Given the description of an element on the screen output the (x, y) to click on. 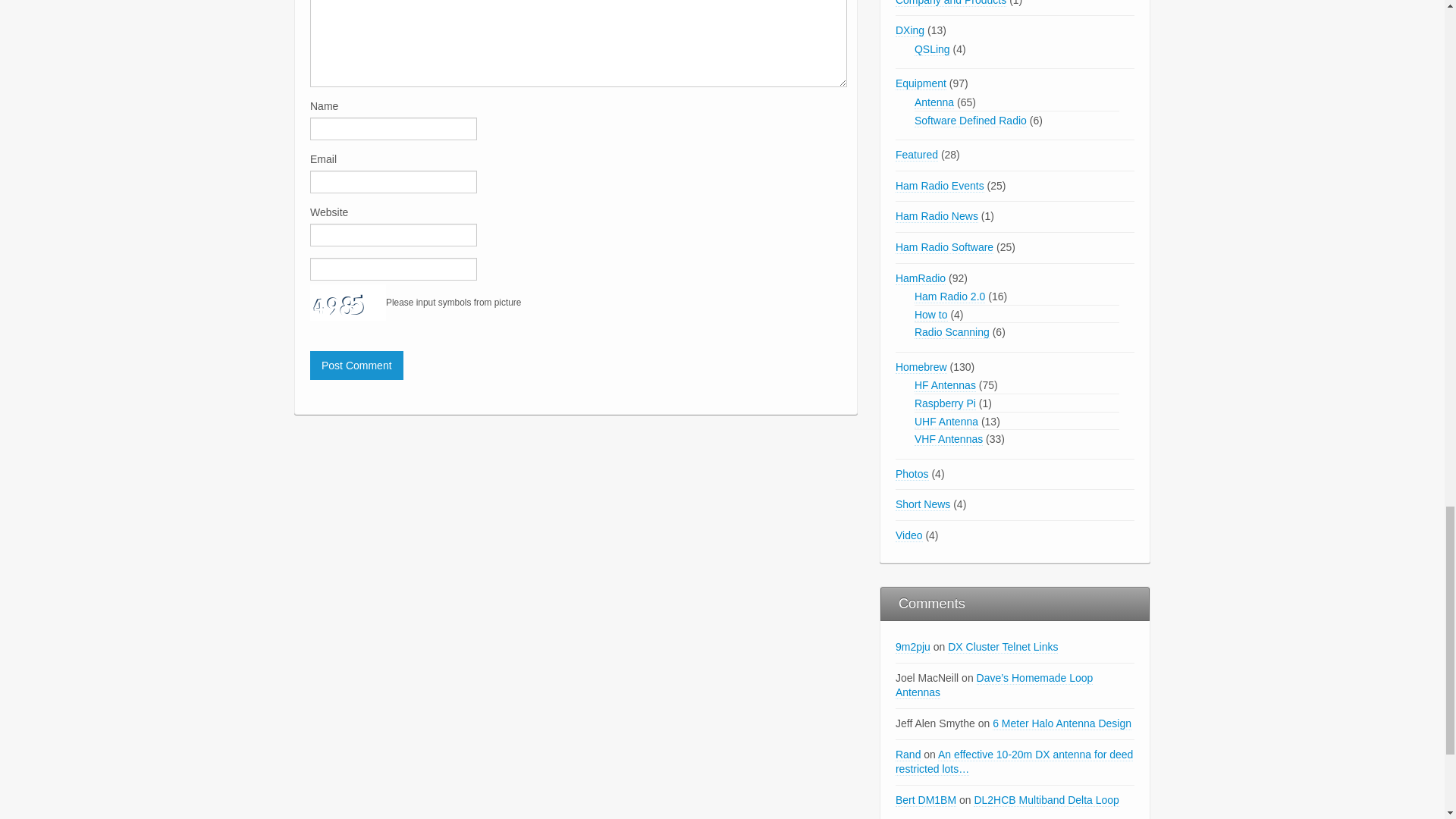
Post Comment (356, 365)
